Given the description of an element on the screen output the (x, y) to click on. 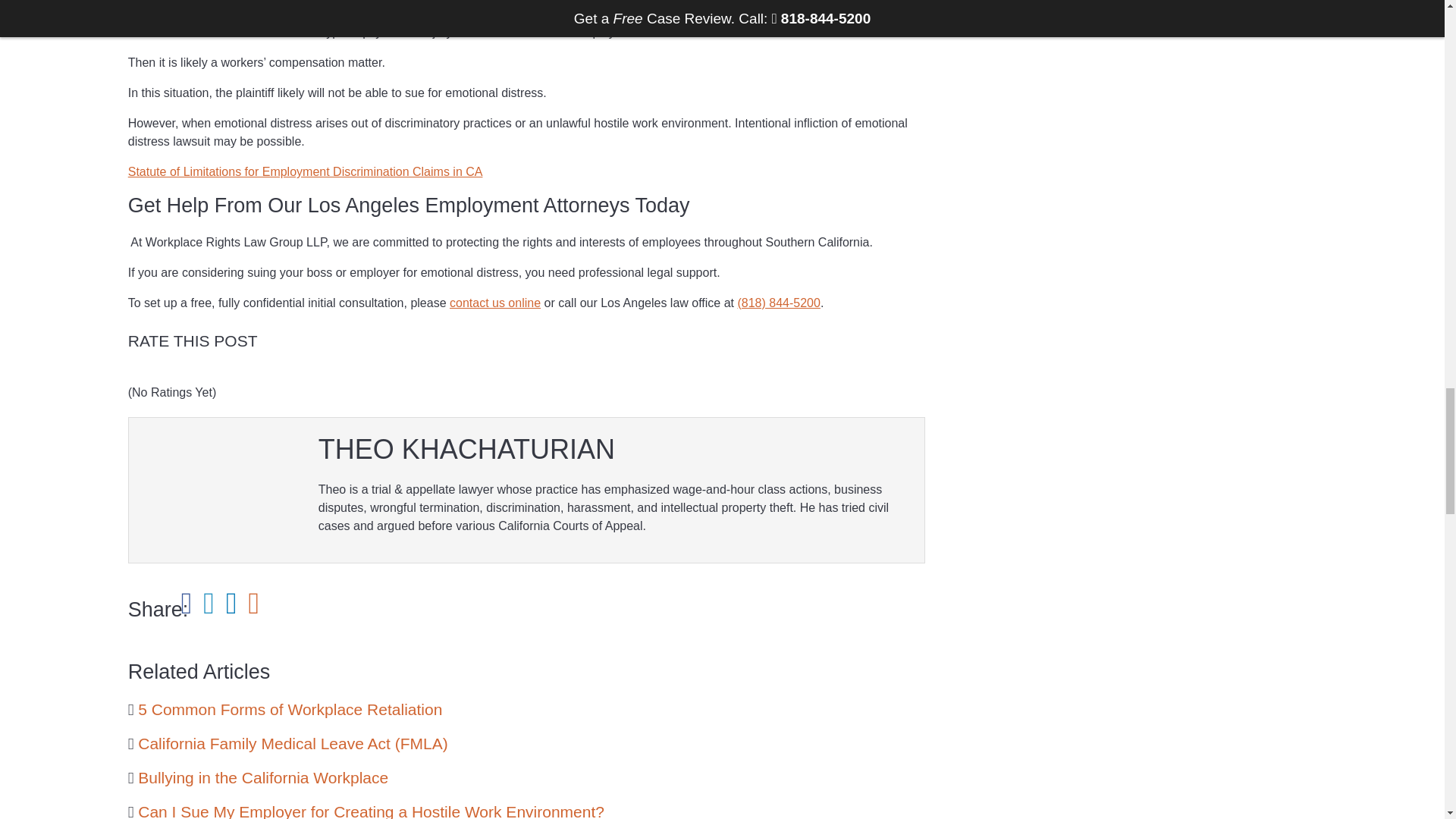
4 Stars (170, 374)
2 Stars (145, 374)
5 Stars (182, 374)
3 Stars (158, 374)
1 Star (133, 374)
